Given the description of an element on the screen output the (x, y) to click on. 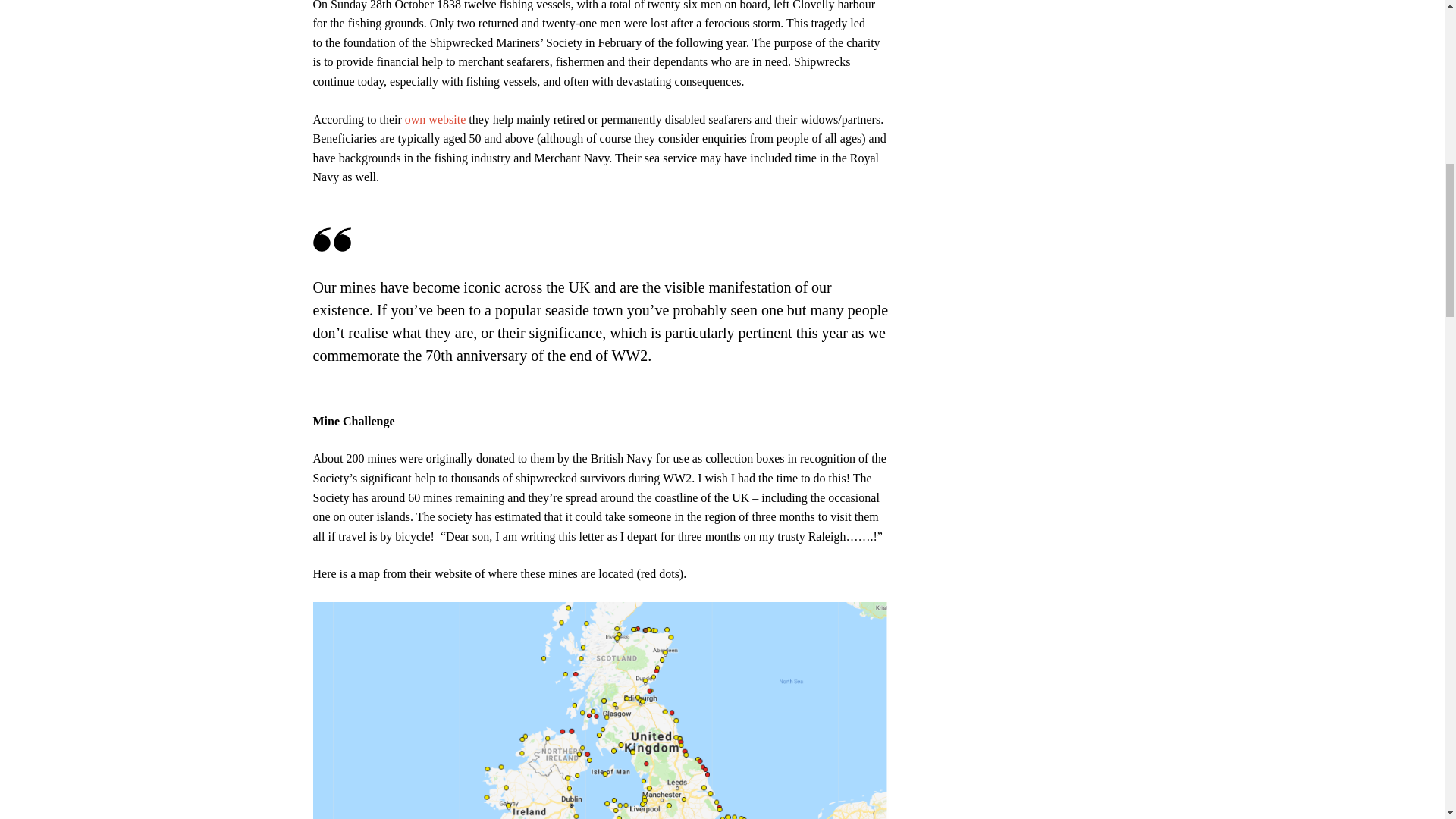
own website (434, 118)
